Given the description of an element on the screen output the (x, y) to click on. 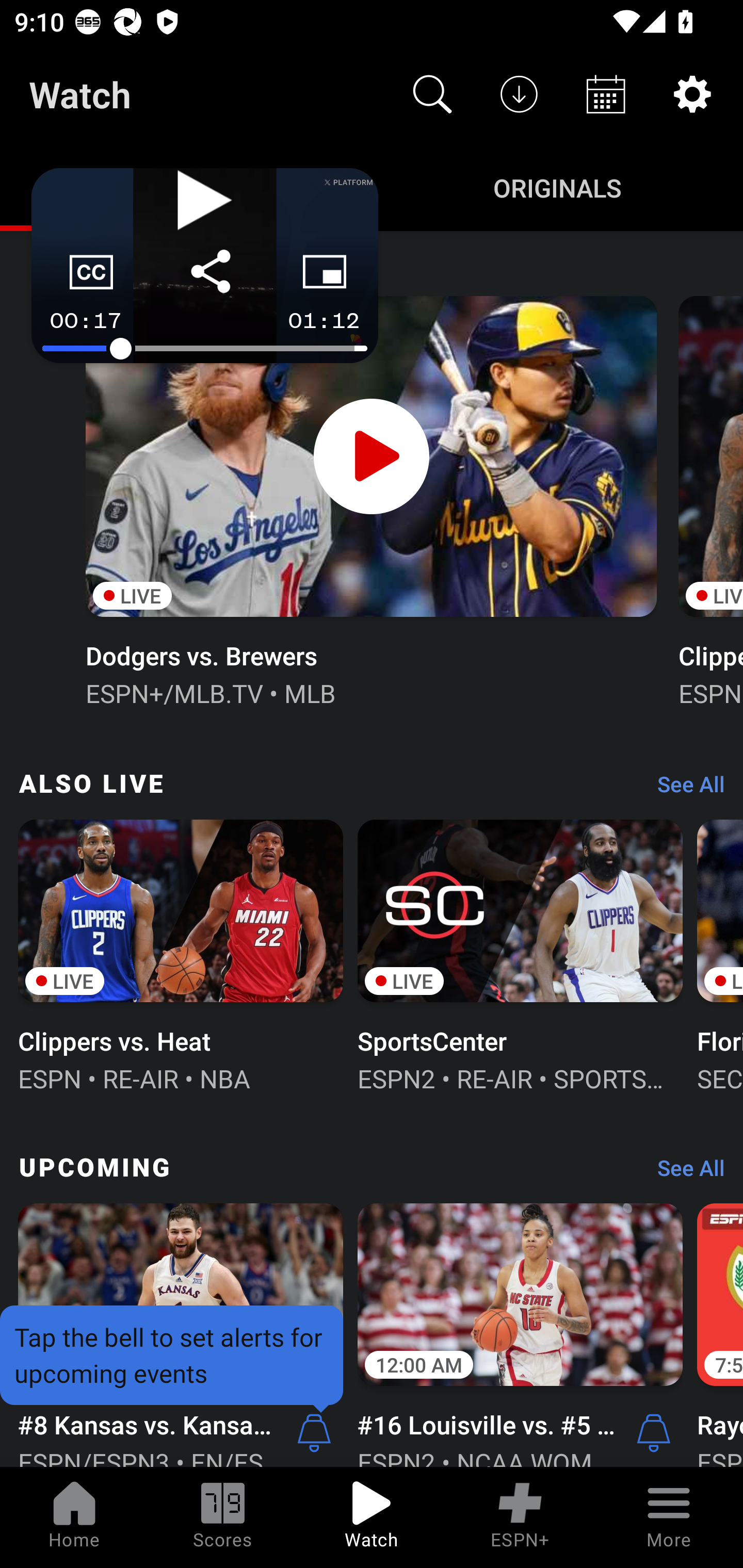
Search (432, 93)
Downloads (518, 93)
Schedule (605, 93)
Settings (692, 93)
Originals ORIGINALS (557, 187)
 LIVE Dodgers vs. Brewers ESPN+/MLB.TV • MLB (370, 499)
See All (683, 788)
LIVE Clippers vs. Heat ESPN • RE-AIR • NBA (180, 954)
LIVE SportsCenter ESPN2 • RE-AIR • SPORTSCENTER (519, 954)
See All (683, 1172)
Alerts (314, 1432)
Alerts (653, 1432)
Home (74, 1517)
Scores (222, 1517)
ESPN+ (519, 1517)
More (668, 1517)
